Given the description of an element on the screen output the (x, y) to click on. 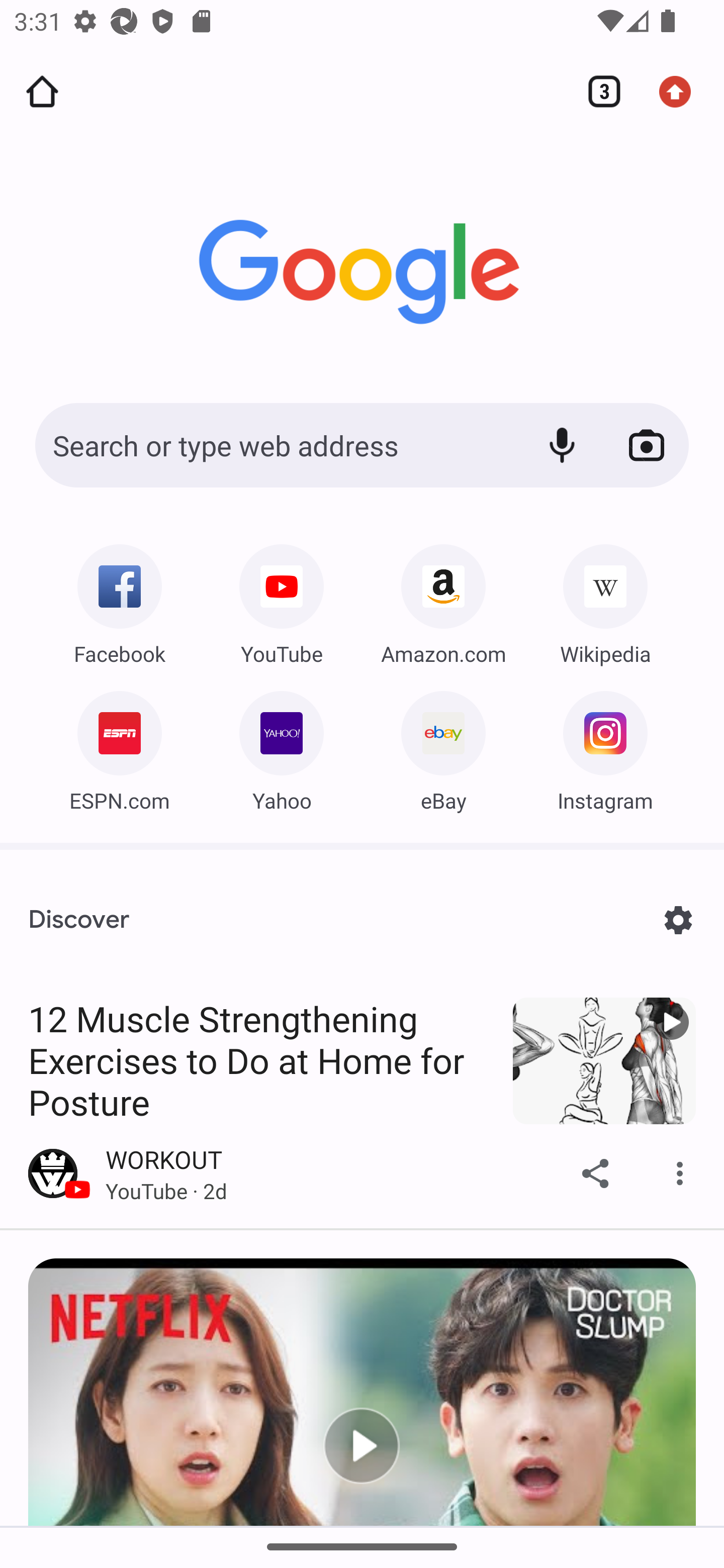
Home (42, 91)
Switch or close tabs (597, 91)
Update available. More options (681, 91)
Search or type web address (275, 444)
Start voice search (561, 444)
Search with your camera using Google Lens (646, 444)
Facebook (119, 599)
YouTube (281, 599)
Amazon.com (443, 599)
Wikipedia (605, 599)
ESPN.com (119, 746)
Yahoo (281, 746)
eBay (443, 746)
Instagram (605, 746)
Options for Discover (677, 919)
